Given the description of an element on the screen output the (x, y) to click on. 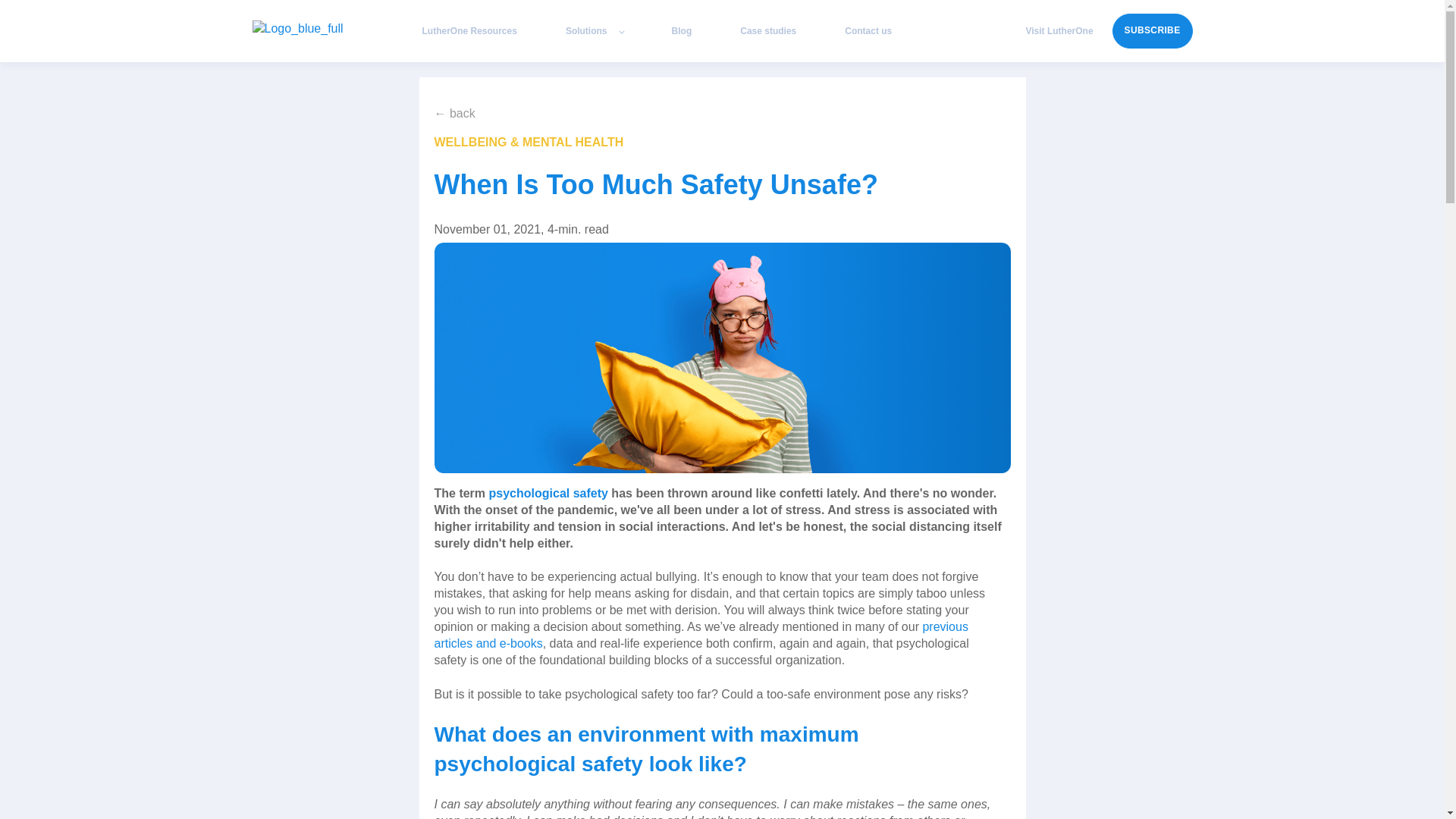
Case studies (767, 30)
psychological safety (546, 492)
Solutions (594, 30)
SUBSCRIBE (1152, 30)
previous articles and e-books (700, 634)
Contact us (867, 30)
Visit LutherOne (1059, 30)
LutherOne Resources (469, 30)
Psychological Safety blog (721, 357)
